Given the description of an element on the screen output the (x, y) to click on. 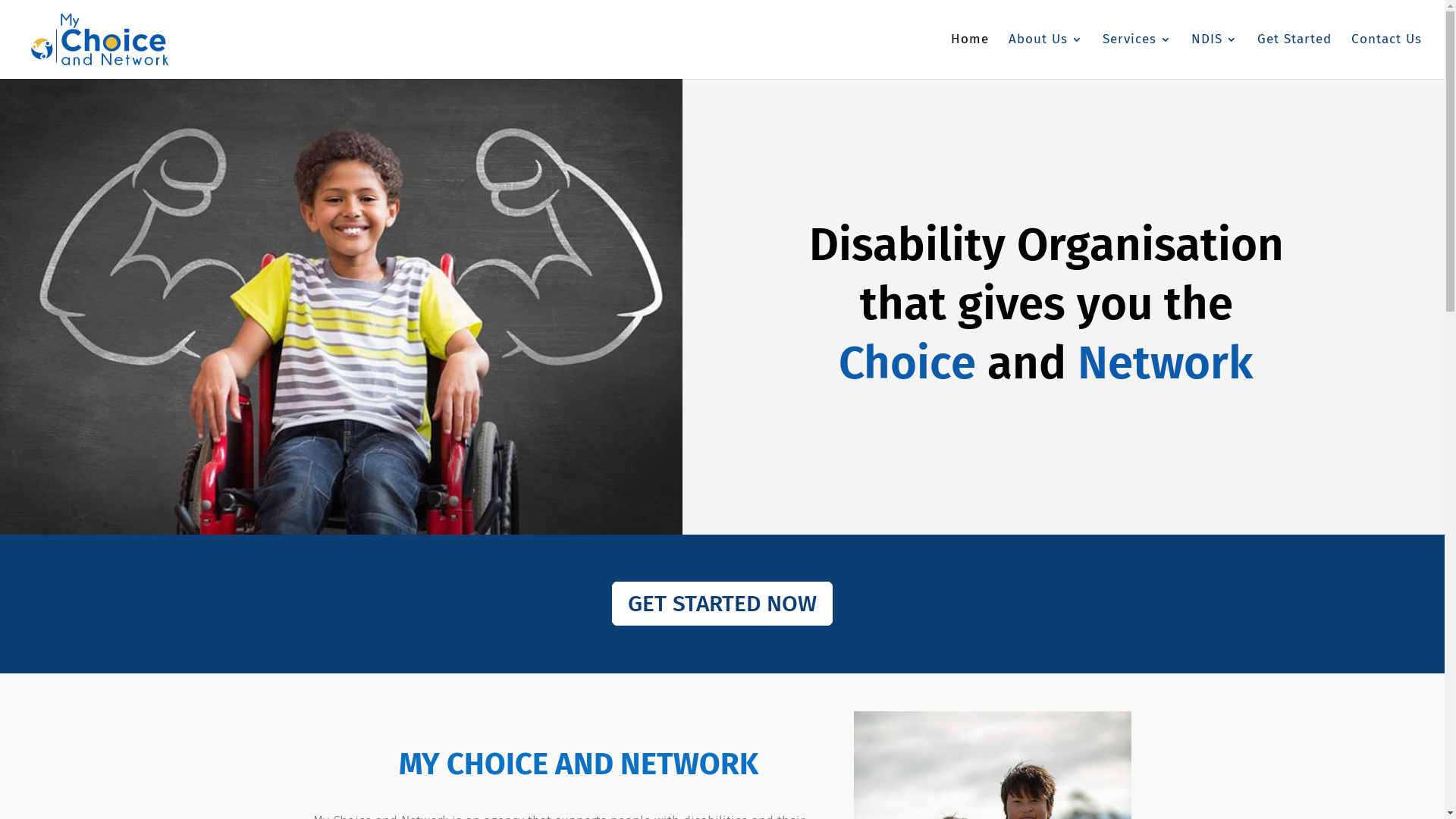
Home Element type: text (969, 56)
GET STARTED NOW Element type: text (721, 603)
Contact Us Element type: text (1386, 56)
Get Started Element type: text (1294, 56)
About Us Element type: text (1045, 56)
Services Element type: text (1136, 56)
NDIS Element type: text (1214, 56)
